Given the description of an element on the screen output the (x, y) to click on. 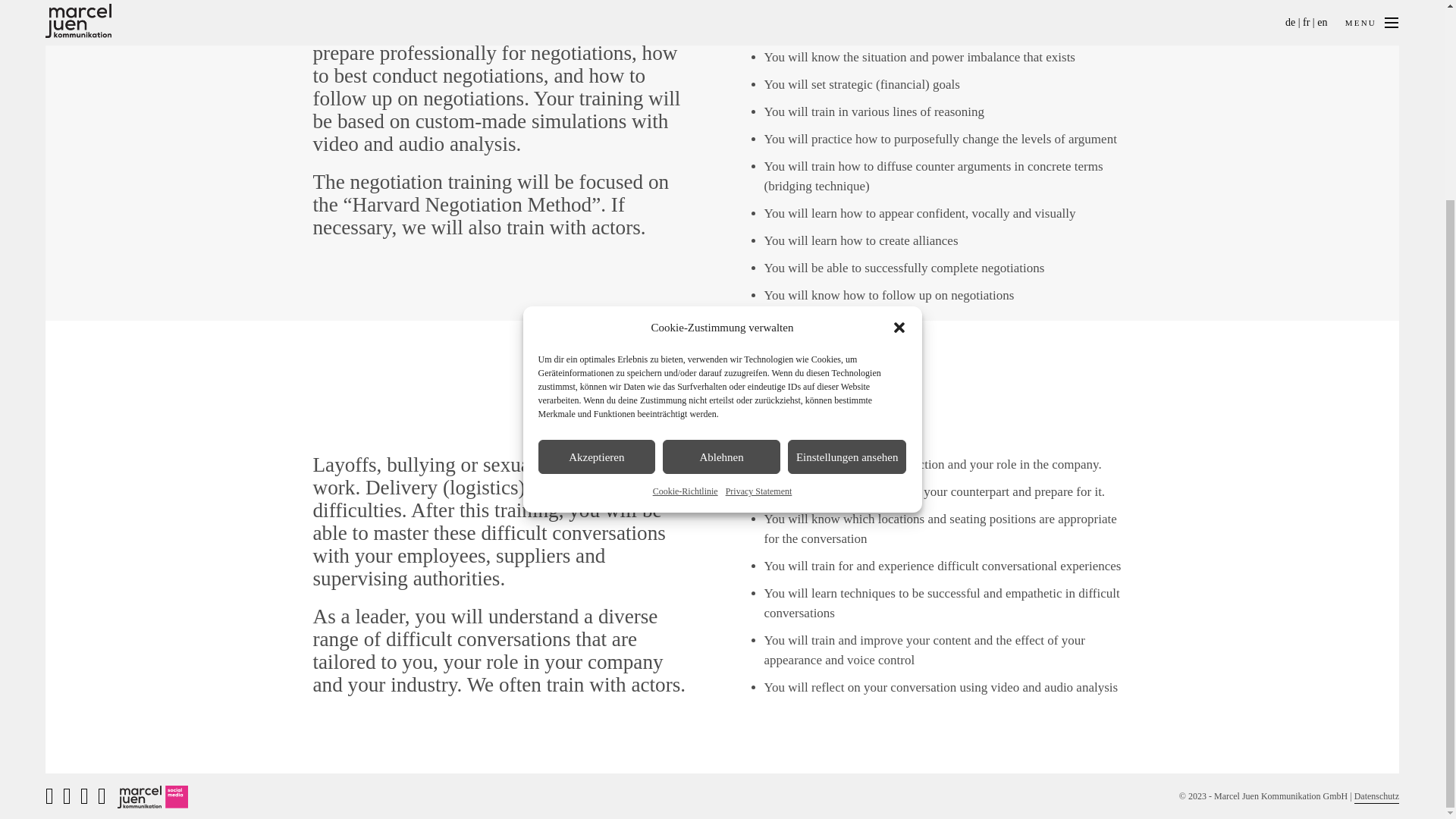
Akzeptieren (597, 202)
Privacy Statement (758, 236)
Cookie-Richtlinie (684, 236)
marcel juen kommunikation socialmedia (152, 541)
Einstellungen ansehen (847, 202)
Ablehnen (721, 202)
